Given the description of an element on the screen output the (x, y) to click on. 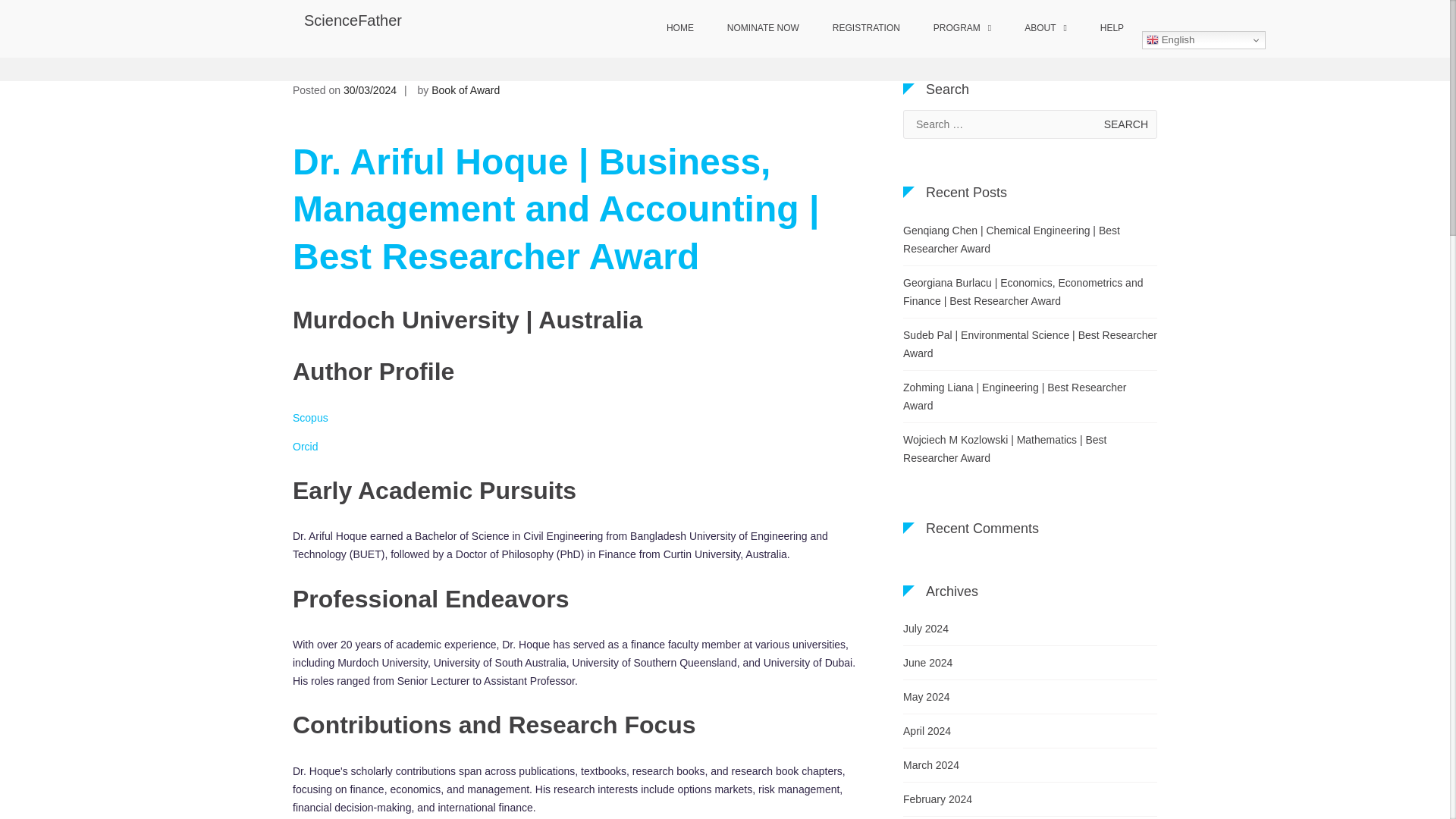
HOME (679, 28)
Posts (694, 51)
HELP (1111, 28)
ABOUT (1045, 28)
Search (1125, 123)
Posts (694, 51)
ScienceFather (352, 20)
Search (1125, 123)
Home (655, 51)
Orcid (304, 446)
